Given the description of an element on the screen output the (x, y) to click on. 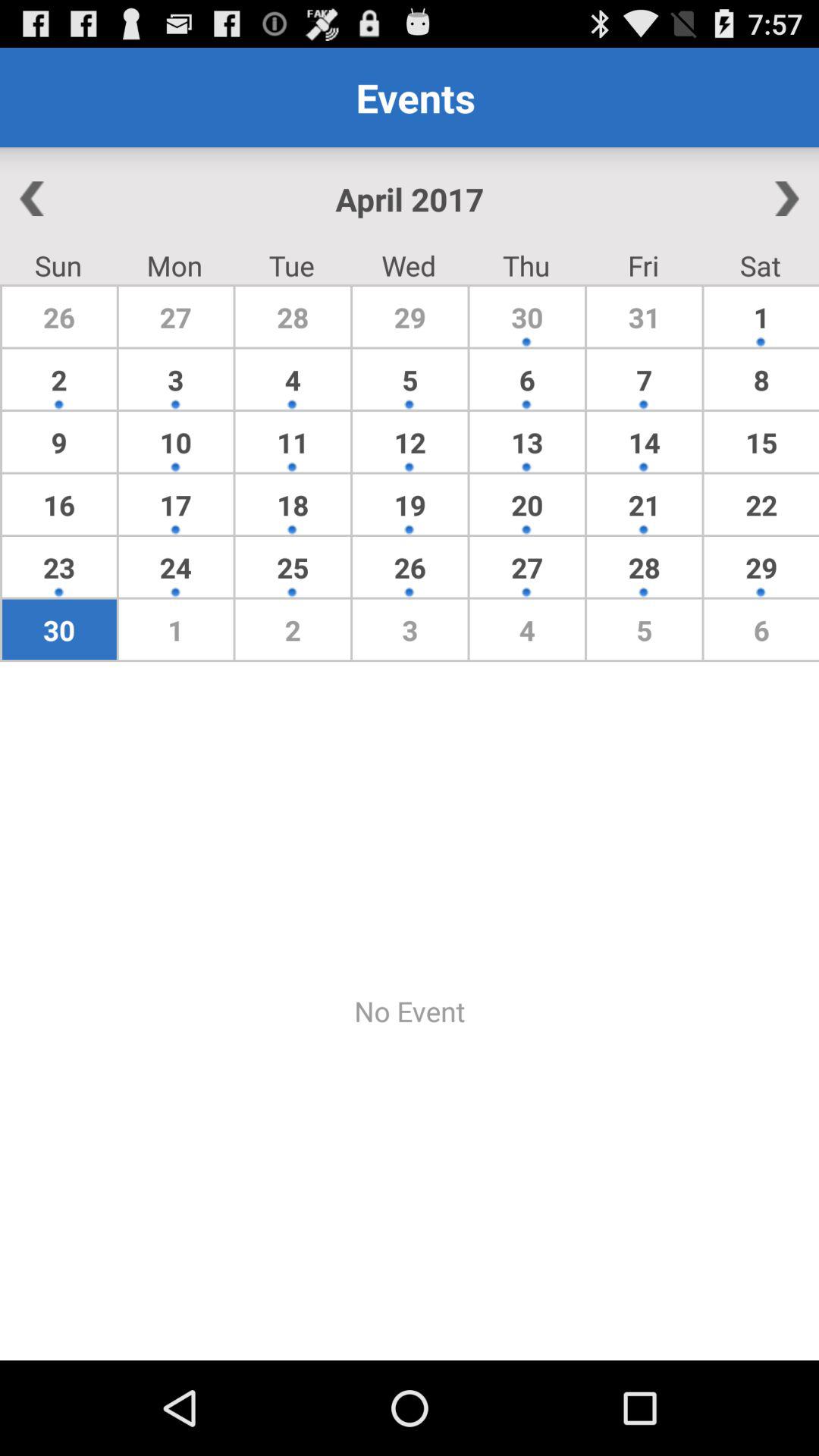
turn on app above 30 icon (175, 566)
